Given the description of an element on the screen output the (x, y) to click on. 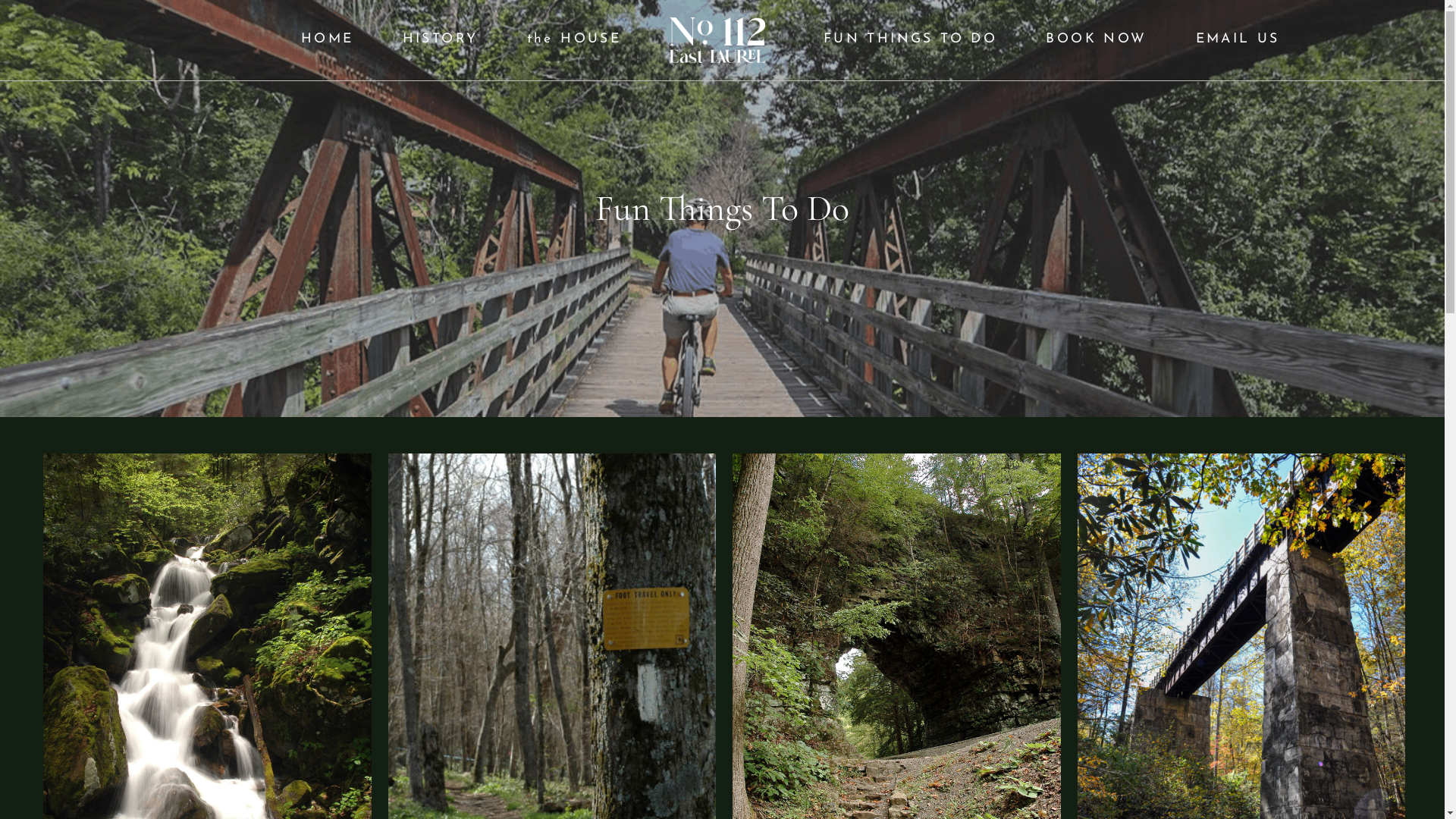
EMAIL US Element type: text (1237, 39)
BOOK NOW Element type: text (1095, 39)
FUN THINGS TO DO Element type: text (910, 39)
the HOUSE Element type: text (574, 39)
HISTORY Element type: text (440, 39)
HOME Element type: text (327, 39)
